Given the description of an element on the screen output the (x, y) to click on. 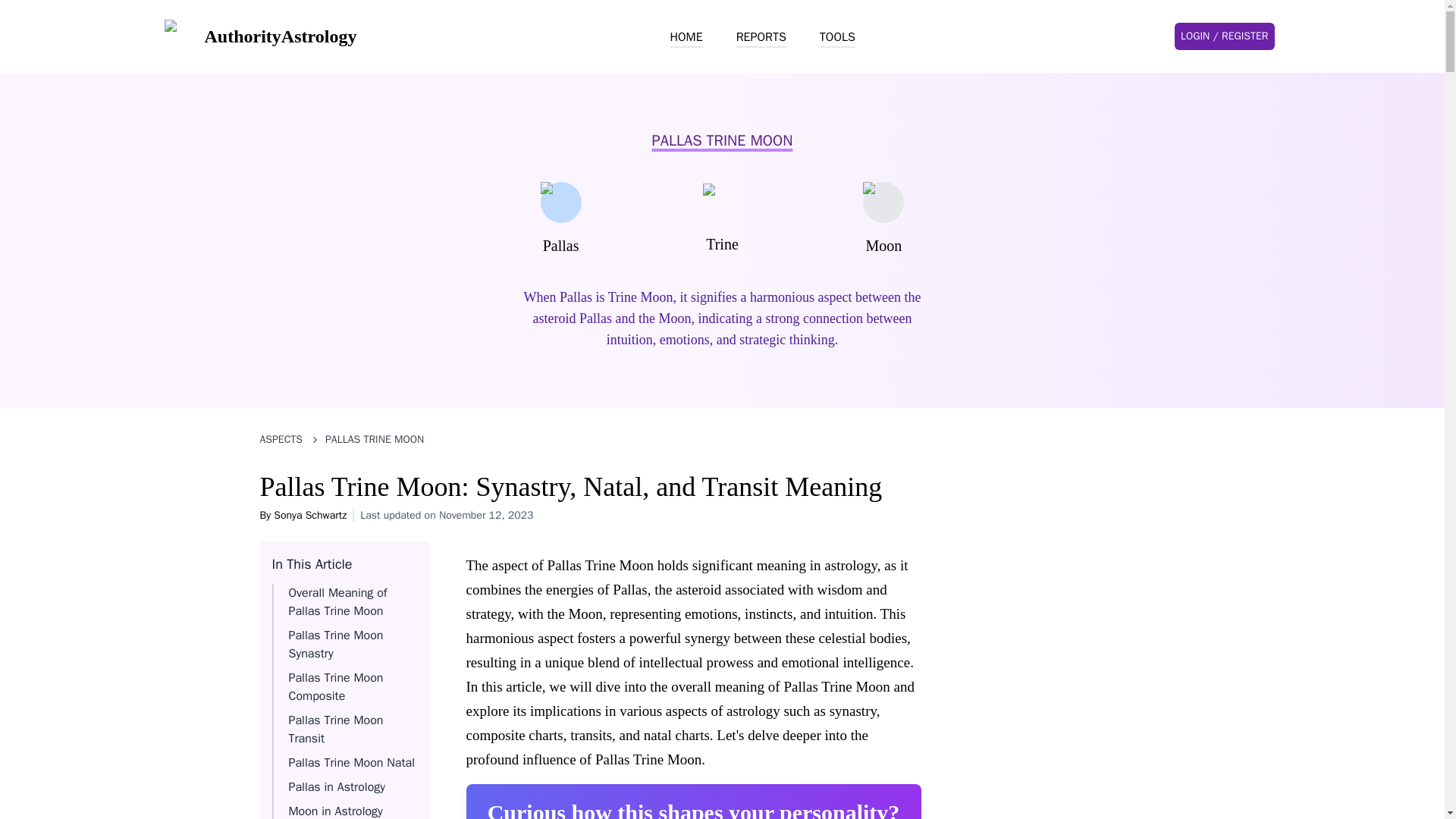
ASPECTS (280, 439)
REPORTS (761, 37)
Moon in Astrology (334, 811)
Pallas in Astrology (336, 786)
PALLAS TRINE MOON (373, 439)
Pallas Trine Moon Transit (335, 729)
Pallas Trine Moon Natal (350, 762)
Sonya Schwartz (309, 514)
Pallas Trine Moon Synastry (335, 644)
Pallas Trine Moon Composite (335, 686)
HOME (686, 37)
TOOLS (837, 37)
AuthorityAstrology (259, 36)
Overall Meaning of Pallas Trine Moon (337, 602)
